Given the description of an element on the screen output the (x, y) to click on. 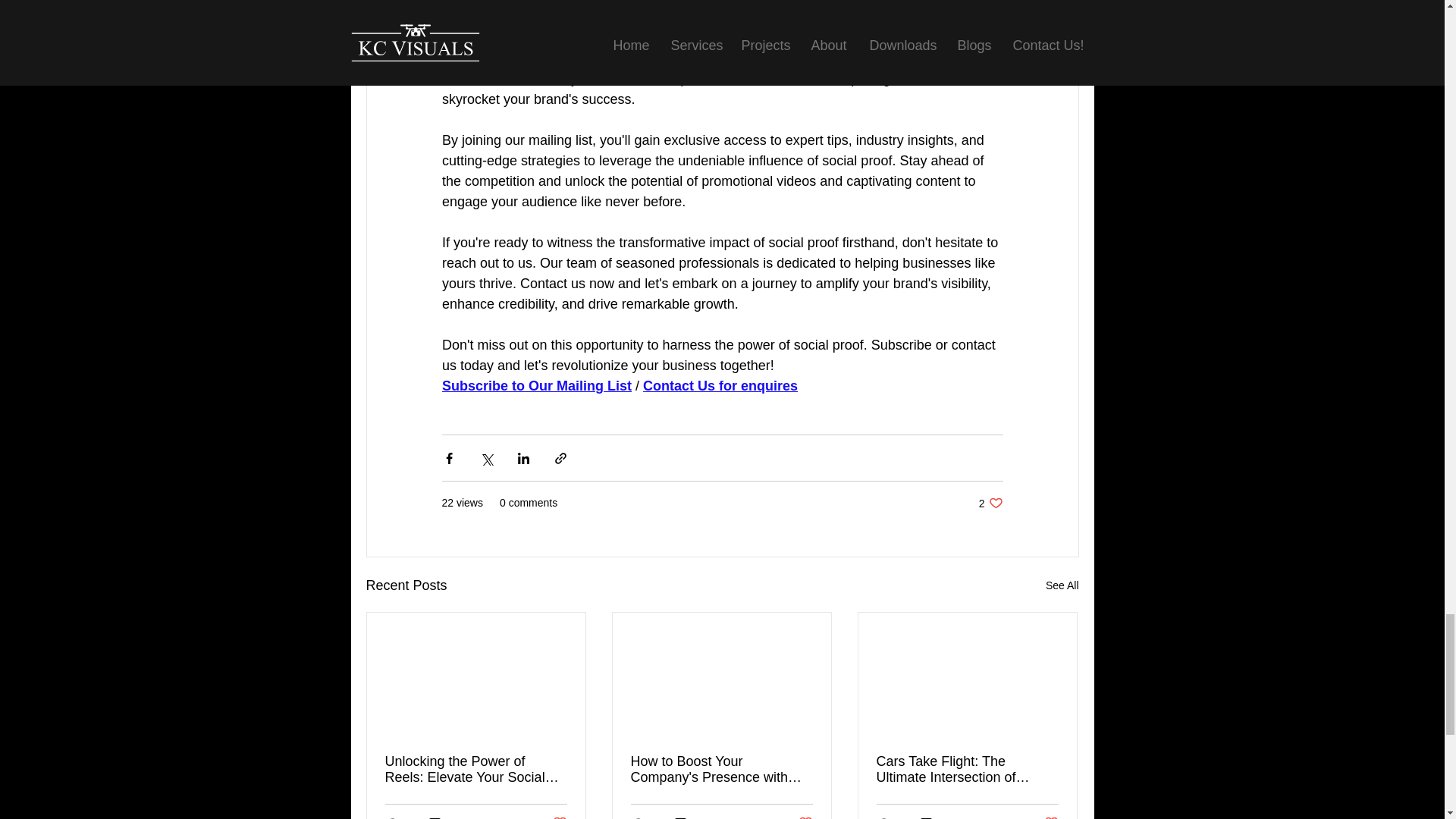
0 (931, 817)
Contact Us for enquires (720, 385)
See All (1061, 585)
Post not marked as liked (990, 503)
Post not marked as liked (558, 816)
1 (1050, 816)
